Given the description of an element on the screen output the (x, y) to click on. 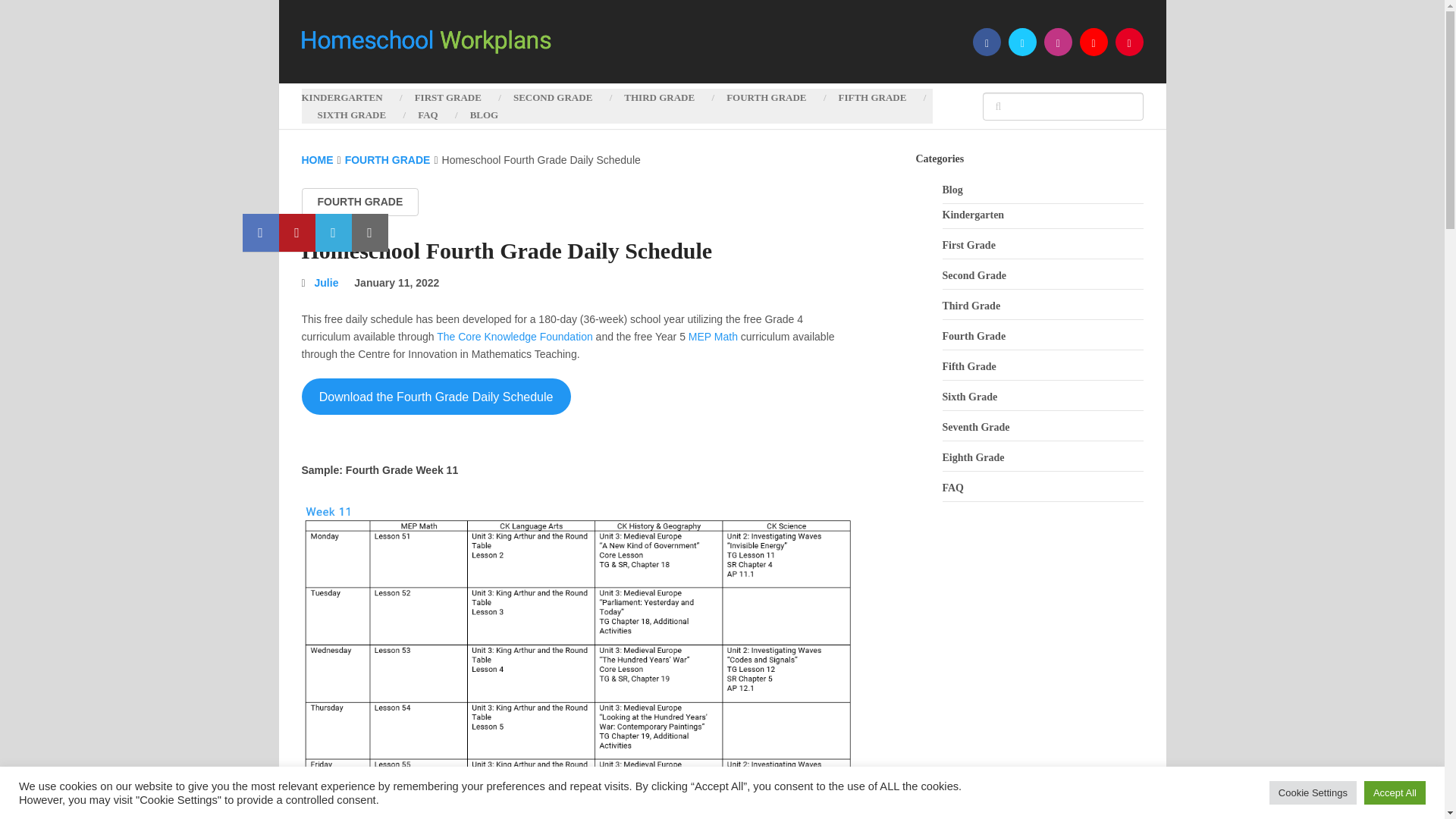
FOURTH GRADE (360, 202)
Posts by Julie (326, 282)
FOURTH GRADE (766, 97)
View all posts in Fourth Grade (360, 202)
SIXTH GRADE (352, 114)
FIRST GRADE (447, 97)
Kindergarten (973, 214)
FIFTH GRADE (871, 97)
SECOND GRADE (552, 97)
MEP Math (713, 336)
KINDERGARTEN (349, 97)
HOME (317, 159)
Julie (326, 282)
FOURTH GRADE (387, 159)
BLOG (484, 114)
